Given the description of an element on the screen output the (x, y) to click on. 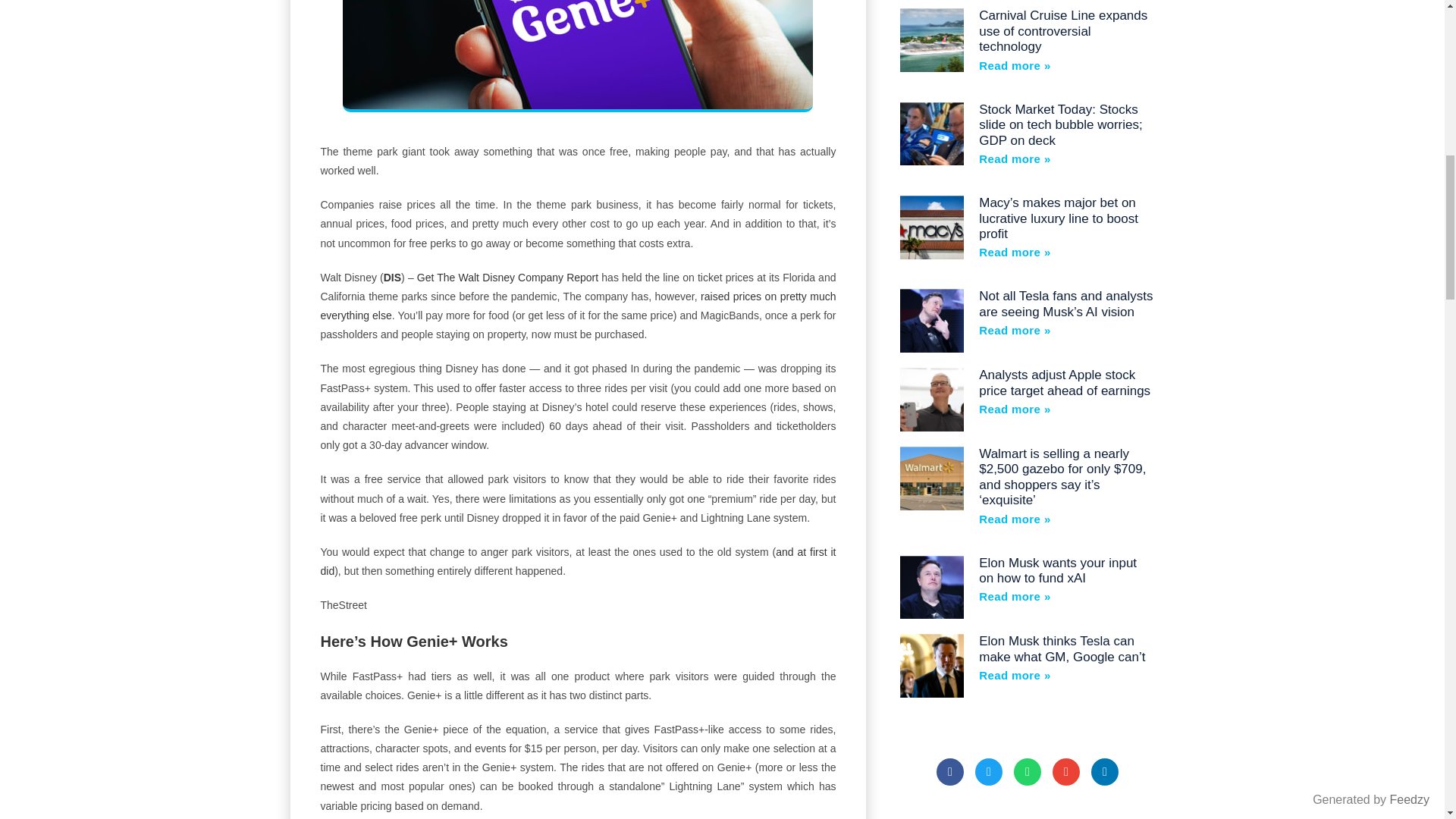
Carnival Cruise Line expands use of controversial technology (1062, 31)
raised prices on pretty much everything else (577, 305)
Analysts adjust Apple stock price target ahead of earnings (1064, 382)
DIS (392, 277)
Get The Walt Disney Company Report (507, 277)
and at first it did (577, 561)
